Given the description of an element on the screen output the (x, y) to click on. 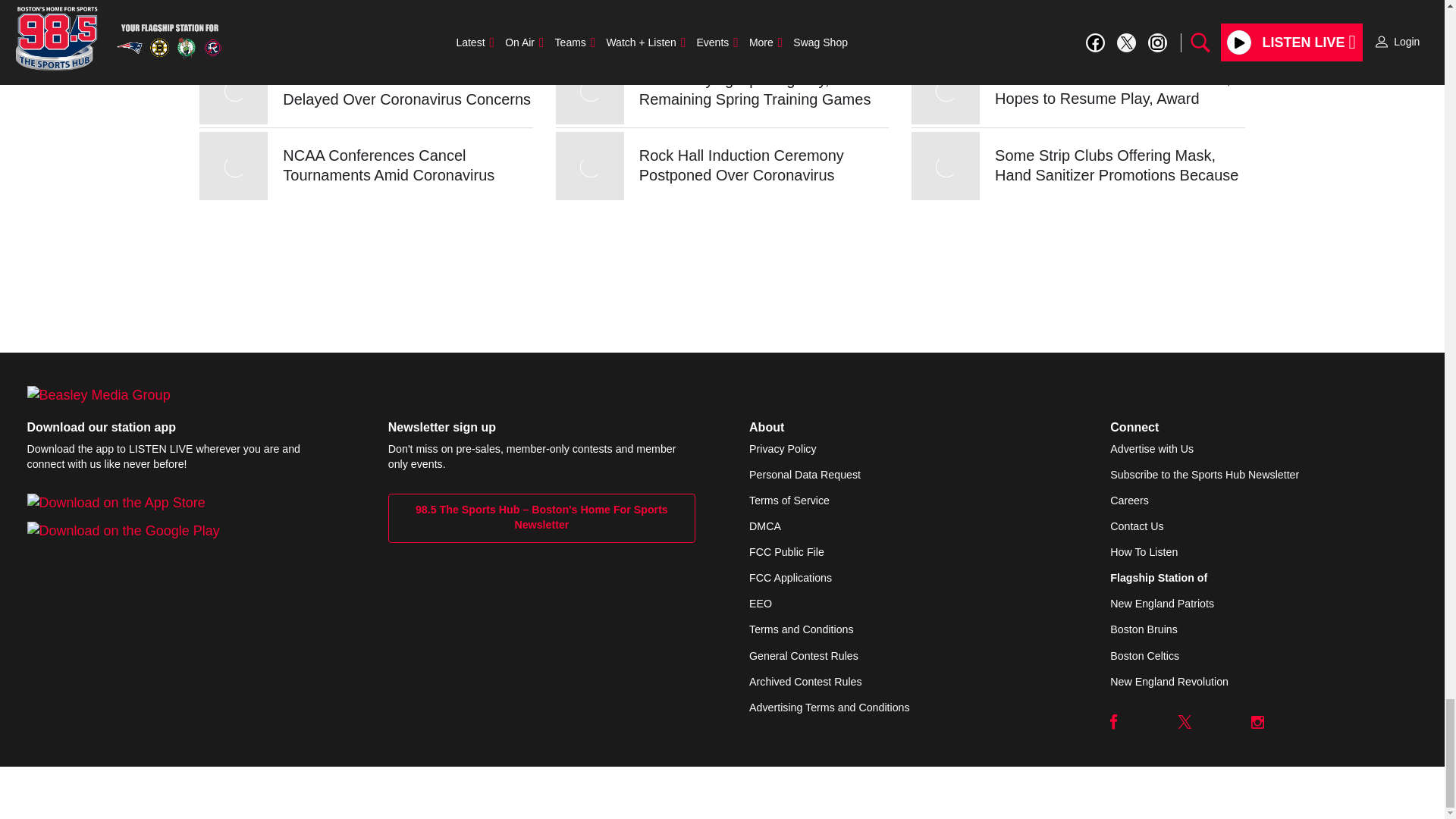
Instagram (1256, 721)
Twitter (1184, 721)
